Given the description of an element on the screen output the (x, y) to click on. 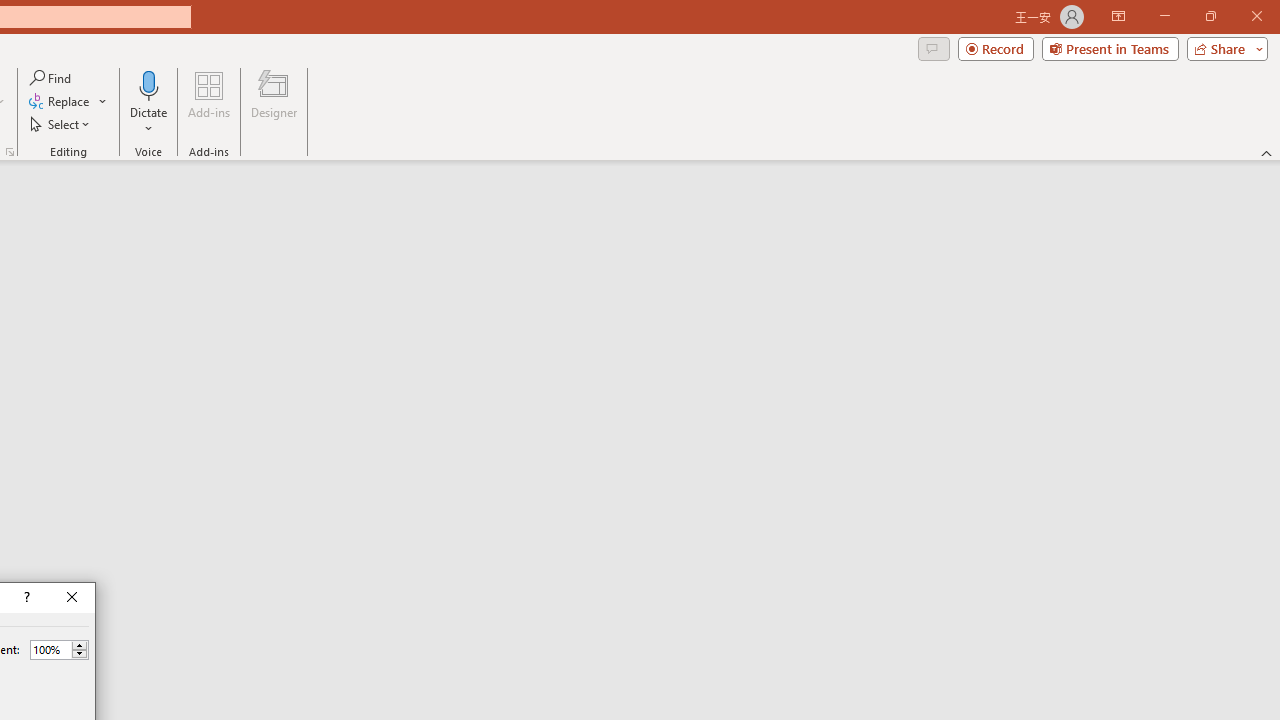
Percent (59, 650)
Percent (50, 649)
